Given the description of an element on the screen output the (x, y) to click on. 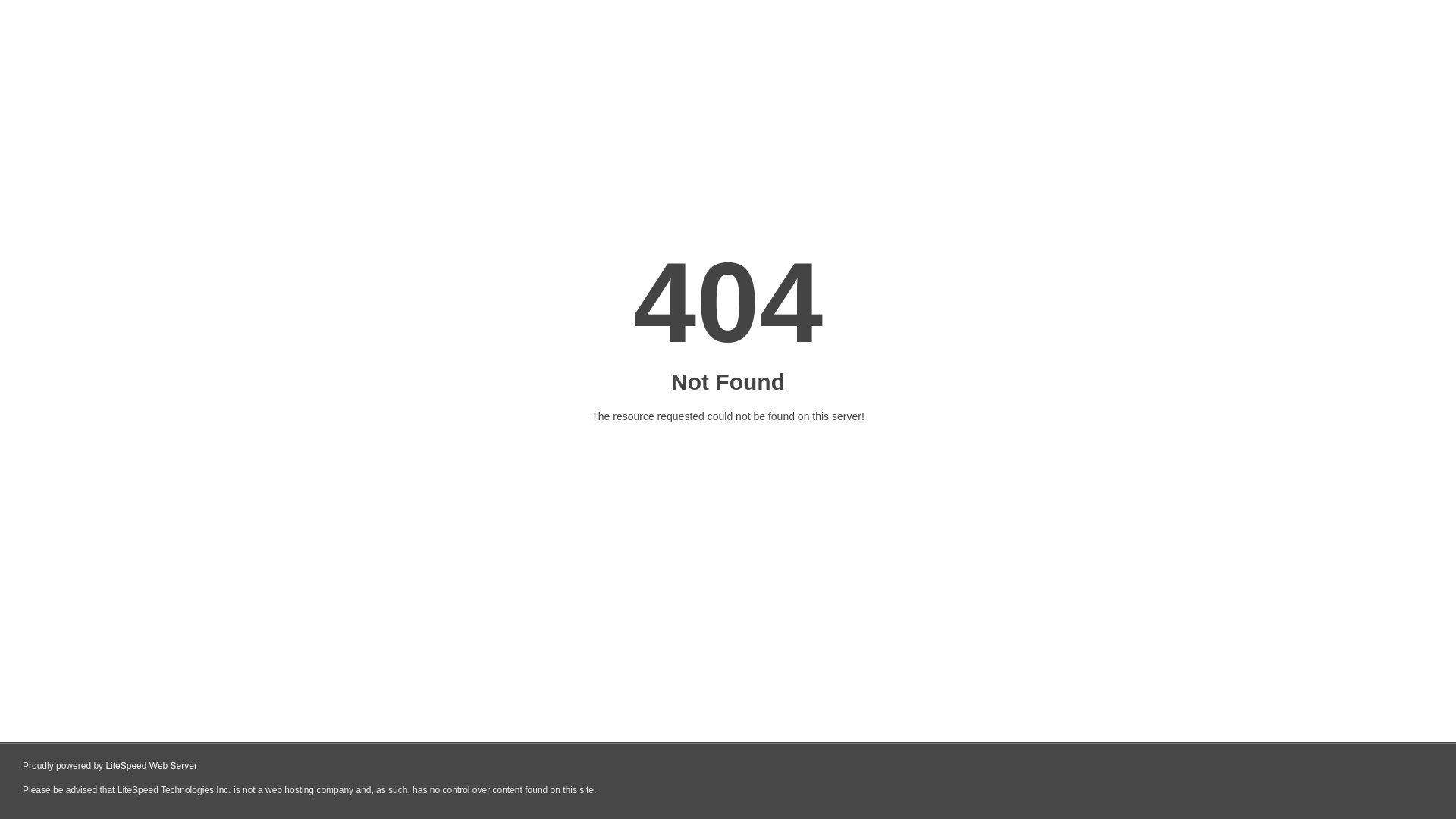
LiteSpeed Web Server Element type: text (151, 765)
